Given the description of an element on the screen output the (x, y) to click on. 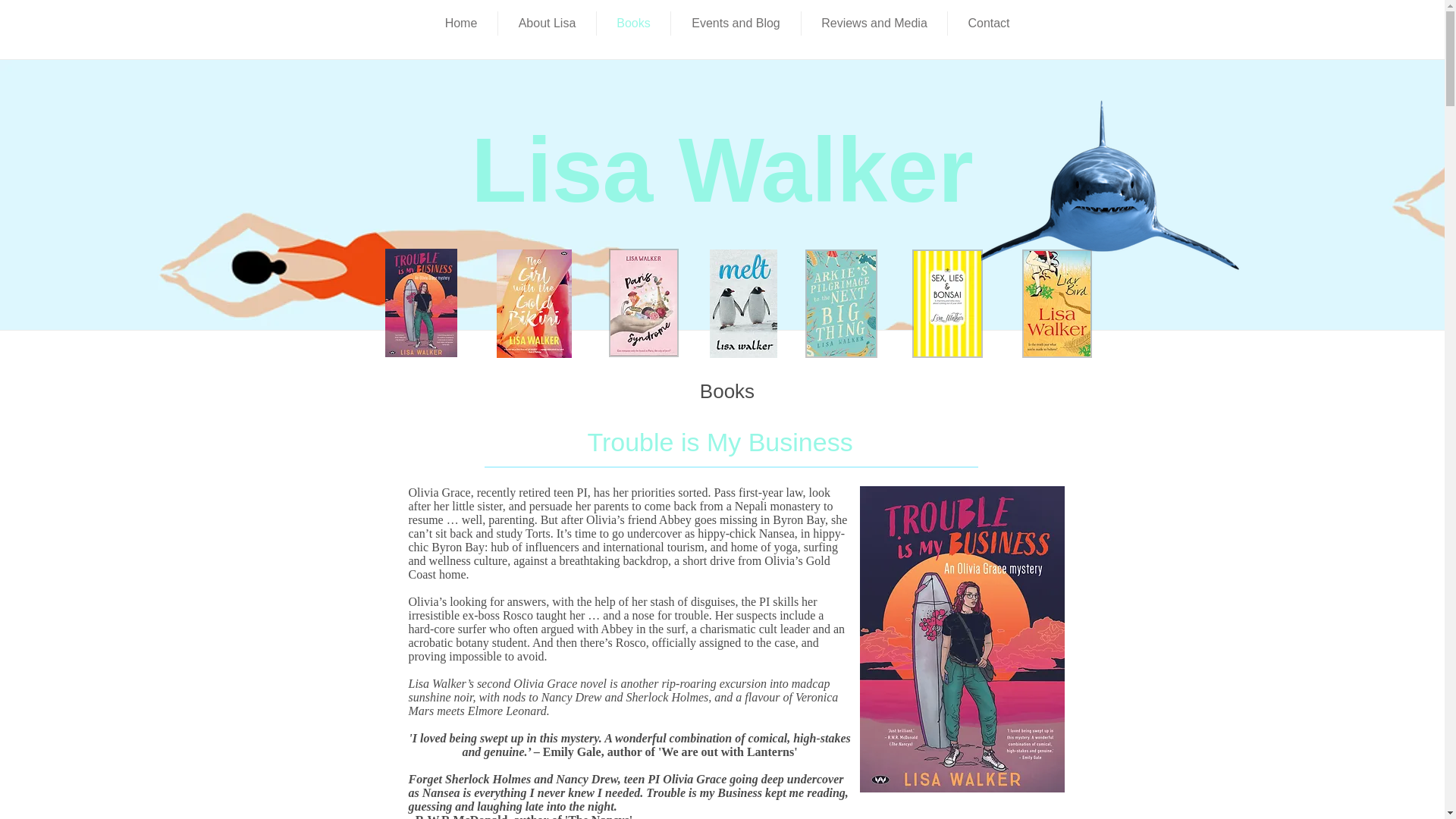
Lisa Walker (722, 169)
Events and Blog (735, 23)
Contact (988, 23)
Books (632, 23)
Reviews and Media (874, 23)
About Lisa (546, 23)
Home (461, 23)
